Given the description of an element on the screen output the (x, y) to click on. 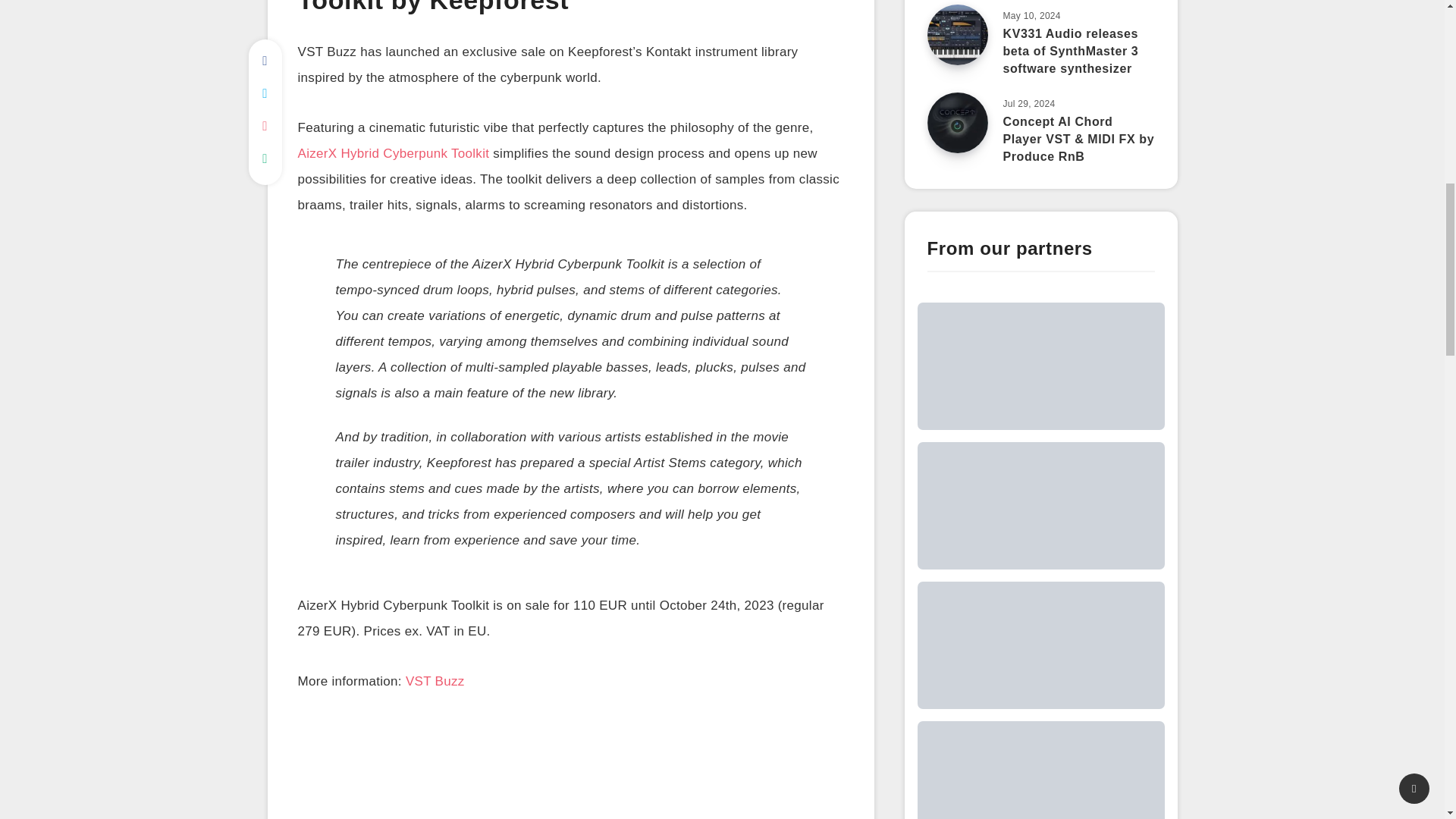
VST Buzz (435, 683)
AizerX Hybrid Cyberpunk Toolkit (393, 155)
Aizerx: Hybrid Cyberpunk Trailer Toolkit -  Walkthrough (570, 771)
